Given the description of an element on the screen output the (x, y) to click on. 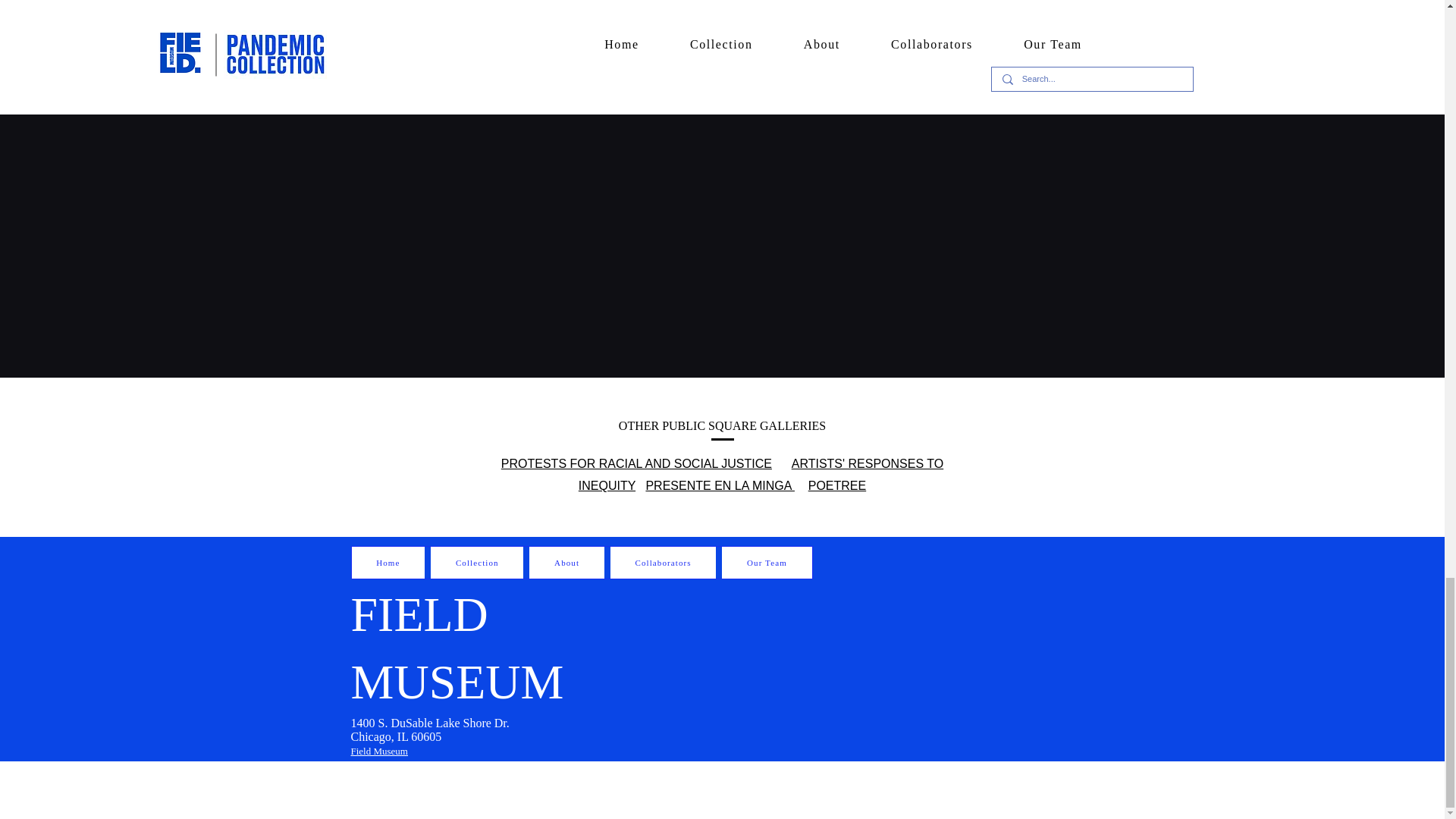
PROTESTS FOR RACIAL AND SOCIAL JUSTICE (635, 463)
Home (388, 562)
Our Team (766, 562)
POETREE (837, 485)
PRESENTE EN LA MINGA  (719, 485)
Field Museum (378, 749)
ARTISTS' RESPONSES TO INEQUITY (760, 474)
